Given the description of an element on the screen output the (x, y) to click on. 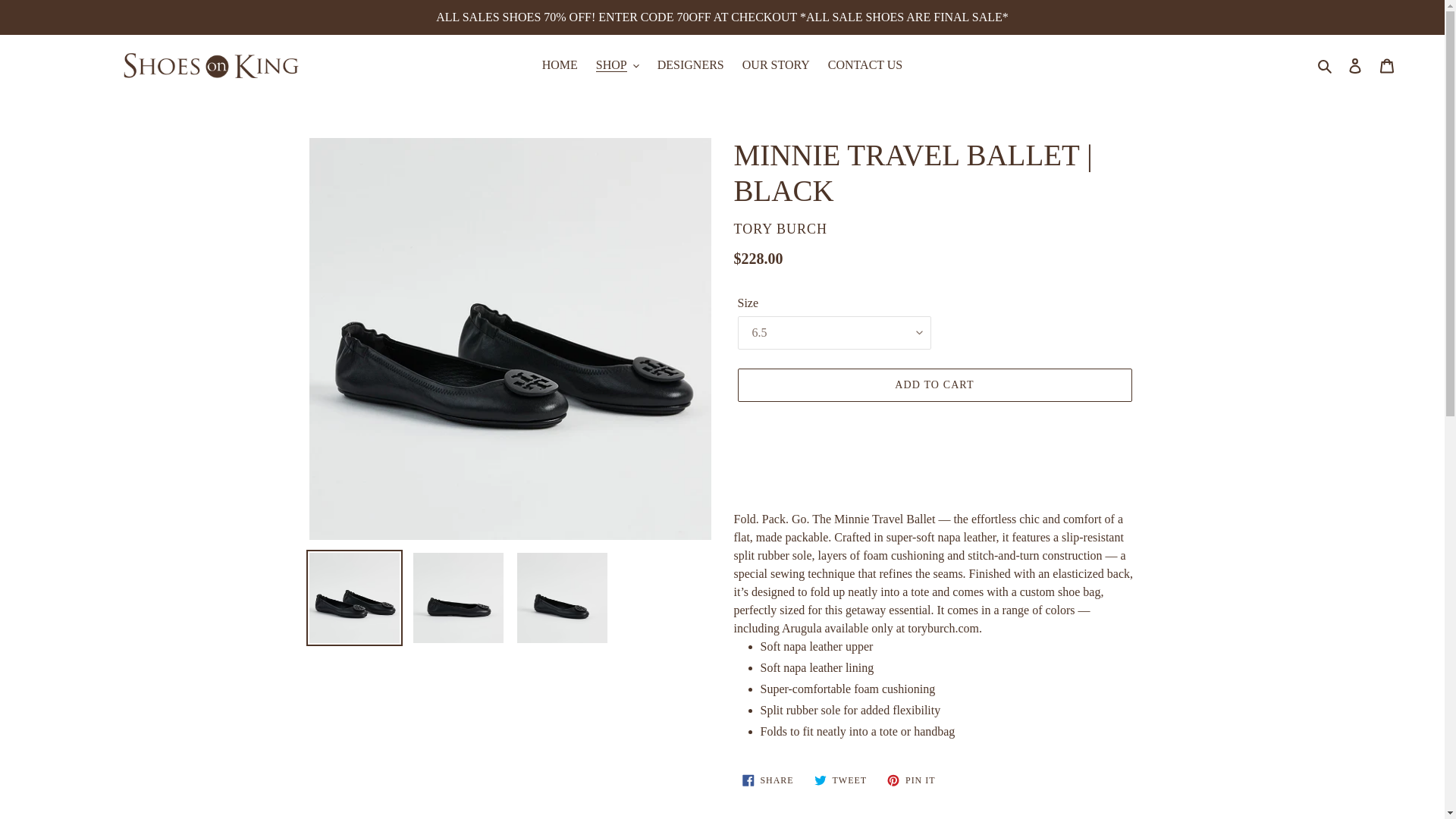
DESIGNERS (690, 65)
OUR STORY (775, 65)
SHOP (617, 65)
CONTACT US (865, 65)
Search (1326, 65)
Cart (1387, 64)
HOME (559, 65)
Log in (1355, 64)
